Given the description of an element on the screen output the (x, y) to click on. 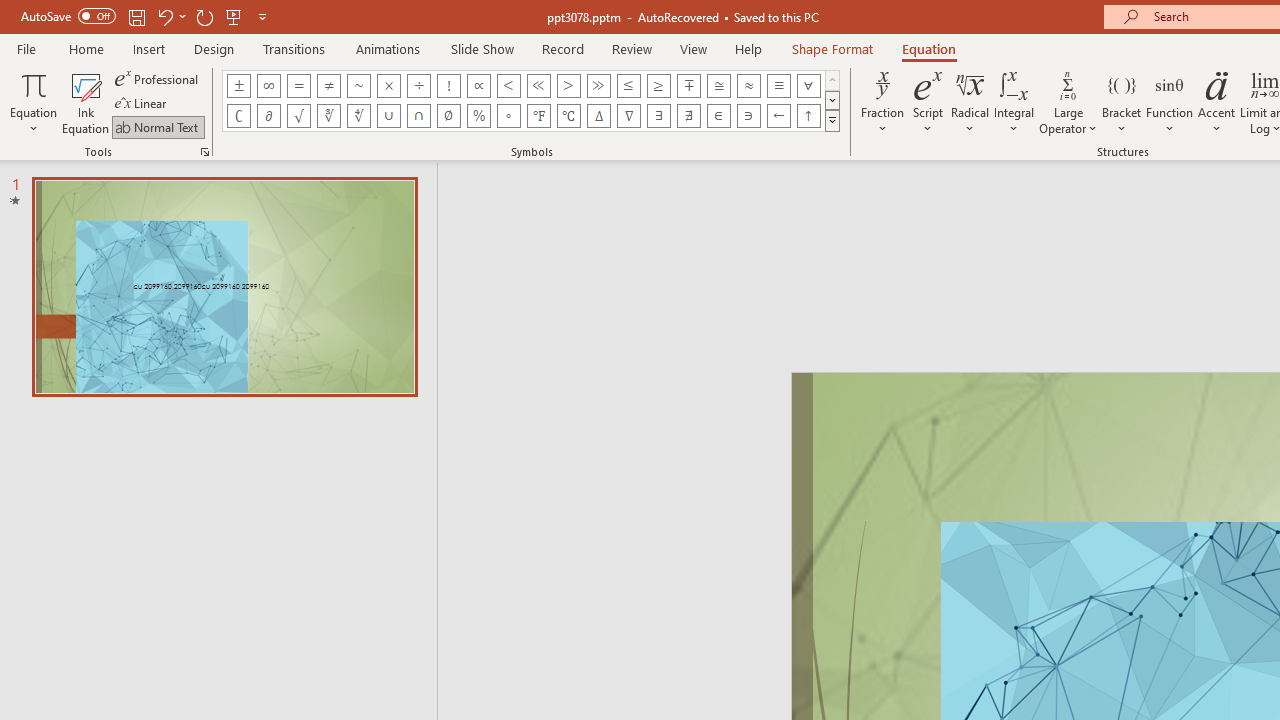
Equation Symbol Plus Minus (238, 85)
Equation Symbol Multiplication Sign (388, 85)
Large Operator (1067, 102)
Equation Symbol Radical Sign (298, 115)
Function (1169, 102)
Equation Symbol Increment (598, 115)
Equation Symbol Up Arrow (808, 115)
Equation Symbol Nabla (628, 115)
Equation Symbol Partial Differential (268, 115)
Equation Symbol Less Than or Equal To (628, 85)
